Given the description of an element on the screen output the (x, y) to click on. 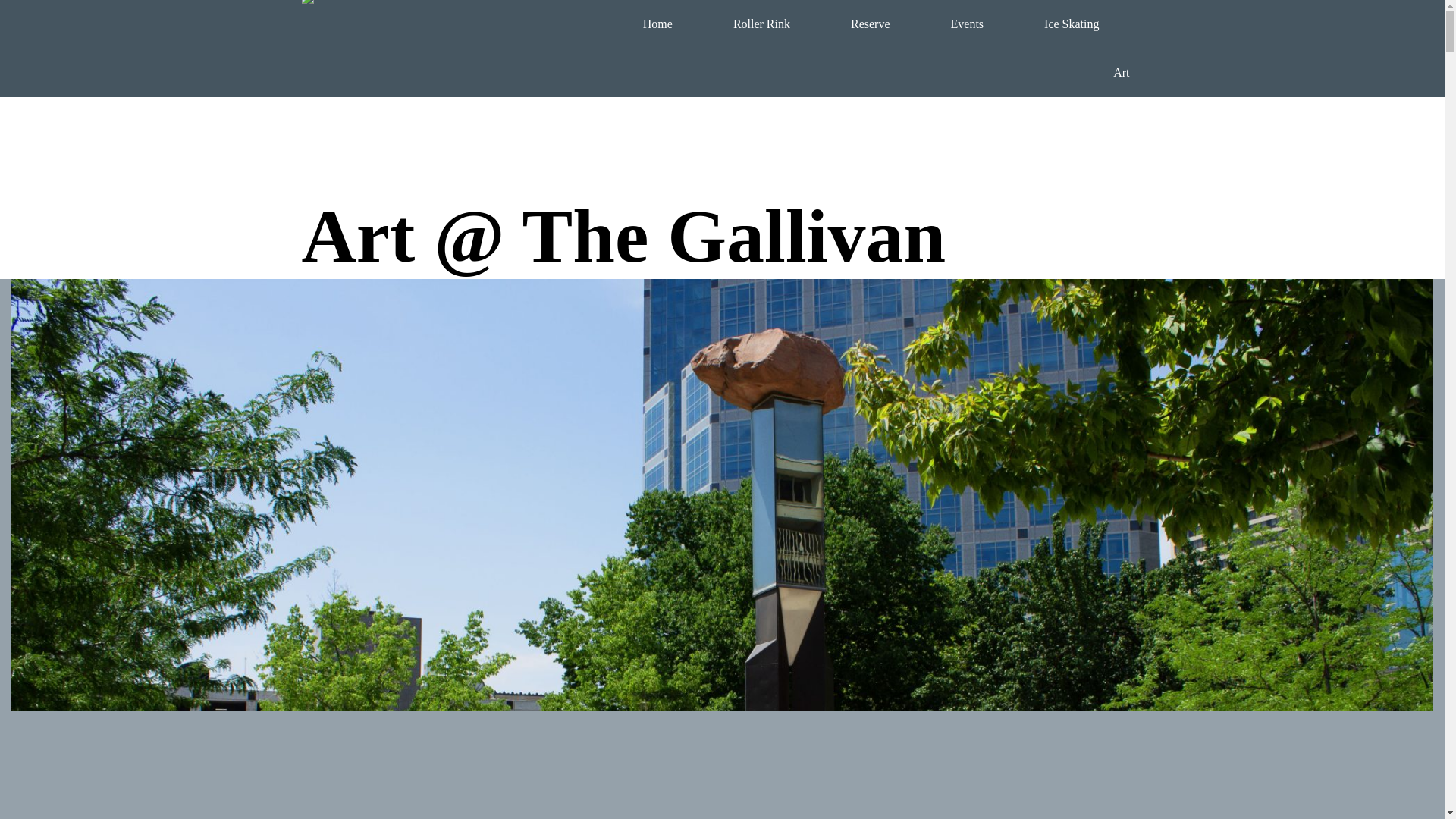
Roller Rink (761, 23)
Reserve (869, 23)
Home (657, 23)
Events (967, 23)
Ice Skating (1071, 23)
Art (1121, 72)
